Given the description of an element on the screen output the (x, y) to click on. 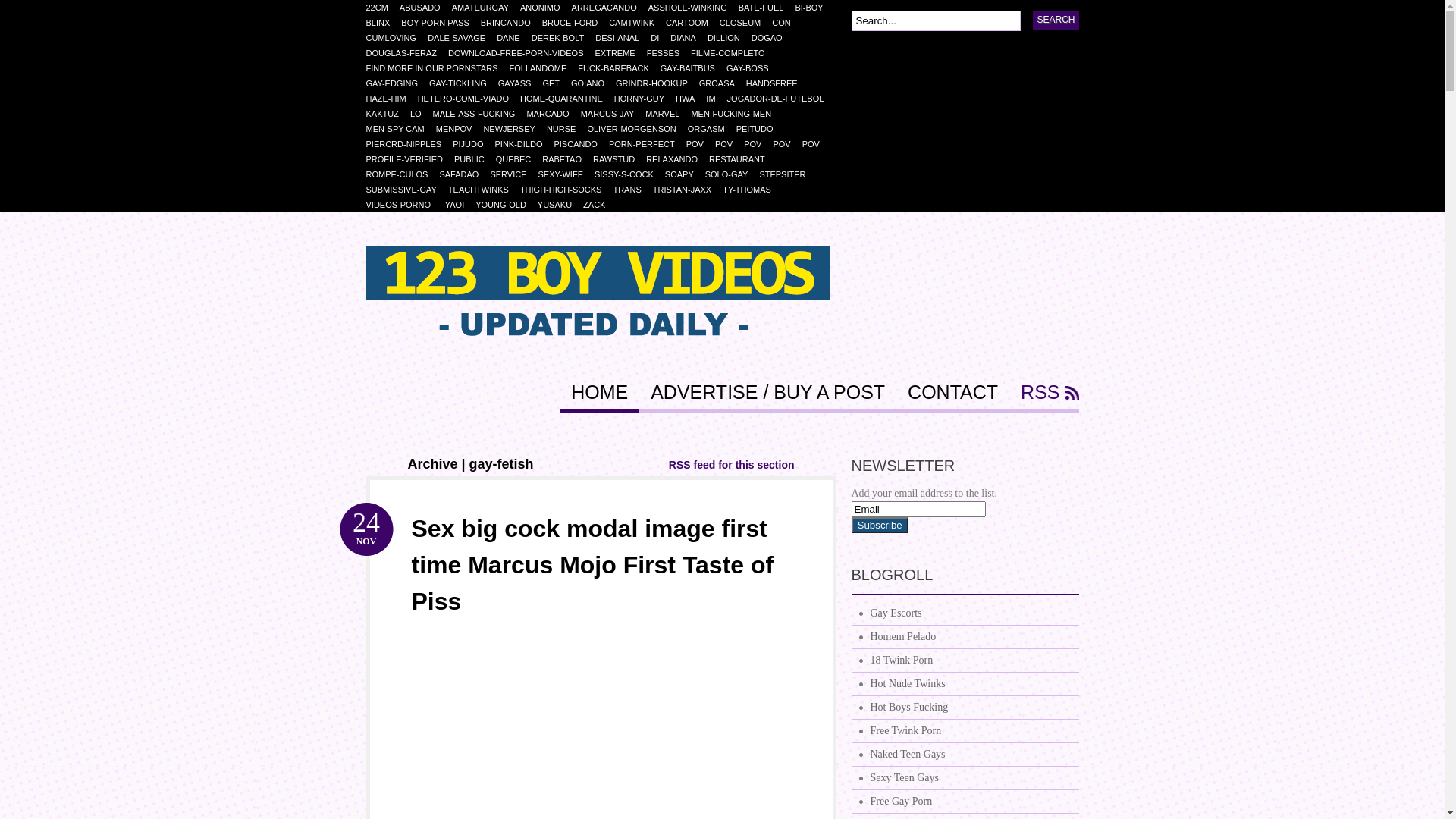
TEACHTWINKS Element type: text (484, 189)
CARTOOM Element type: text (692, 22)
free gay teen boy videos Element type: hover (596, 364)
PUBLIC Element type: text (474, 158)
ADVERTISE / BUY A POST Element type: text (767, 397)
CONTACT Element type: text (952, 397)
ORGASM Element type: text (711, 128)
FUCK-BAREBACK Element type: text (618, 67)
DANE Element type: text (513, 37)
GAY-TICKLING Element type: text (463, 83)
DOGAO Element type: text (772, 37)
PIJUDO Element type: text (473, 143)
GAY-BOSS Element type: text (753, 67)
DEREK-BOLT Element type: text (563, 37)
ASSHOLE-WINKING Element type: text (693, 7)
FESSES Element type: text (668, 52)
LO Element type: text (421, 113)
RELAXANDO Element type: text (677, 158)
PORN-PERFECT Element type: text (647, 143)
DI Element type: text (660, 37)
SAFADAO Element type: text (464, 174)
ZACK Element type: text (599, 204)
RABETAO Element type: text (567, 158)
22CM Element type: text (381, 7)
Email Element type: text (917, 509)
OLIVER-MORGENSON Element type: text (636, 128)
NURSE Element type: text (566, 128)
GAY-BAITBUS Element type: text (693, 67)
POV Element type: text (816, 143)
Hot Boys Fucking Element type: text (964, 707)
MARCUS-JAY Element type: text (613, 113)
SUBMISSIVE-GAY Element type: text (406, 189)
SOLO-GAY Element type: text (732, 174)
CAMTWINK Element type: text (636, 22)
Free Twink Porn Element type: text (964, 731)
HOME Element type: text (599, 397)
TRANS Element type: text (632, 189)
STEPSITER Element type: text (787, 174)
Search Element type: text (1055, 19)
Hot Nude Twinks Element type: text (964, 684)
HWA Element type: text (690, 98)
POV Element type: text (757, 143)
MALE-ASS-FUCKING Element type: text (480, 113)
AMATEURGAY Element type: text (485, 7)
CLOSEUM Element type: text (745, 22)
PINK-DILDO Element type: text (523, 143)
HAZE-HIM Element type: text (391, 98)
GOIANO Element type: text (593, 83)
FILME-COMPLETO Element type: text (733, 52)
Sexy Teen Gays Element type: text (964, 778)
RSS Element type: text (1043, 397)
GAYASS Element type: text (520, 83)
NEWJERSEY Element type: text (514, 128)
PROFILE-VERIFIED Element type: text (409, 158)
IM Element type: text (716, 98)
Naked Teen Gays Element type: text (964, 754)
DOUGLAS-FERAZ Element type: text (406, 52)
18 Twink Porn Element type: text (964, 660)
Homem Pelado Element type: text (964, 637)
RESTAURANT Element type: text (742, 158)
YOUNG-OLD Element type: text (506, 204)
CUMLOVING Element type: text (396, 37)
BLINX Element type: text (383, 22)
SERVICE Element type: text (513, 174)
SEXY-WIFE Element type: text (565, 174)
BRUCE-FORD Element type: text (575, 22)
DOWNLOAD-FREE-PORN-VIDEOS Element type: text (521, 52)
Free Gay Porn Element type: text (964, 801)
BOY PORN PASS Element type: text (440, 22)
DALE-SAVAGE Element type: text (461, 37)
FIND MORE IN OUR PORNSTARS Element type: text (436, 67)
RSS feed for this section Element type: text (731, 464)
HORNY-GUY Element type: text (644, 98)
YUSAKU Element type: text (560, 204)
MENPOV Element type: text (459, 128)
MEN-SPY-CAM Element type: text (400, 128)
YAOI Element type: text (460, 204)
GAY-EDGING Element type: text (396, 83)
ABUSADO Element type: text (425, 7)
DIANA Element type: text (688, 37)
HETERO-COME-VIADO Element type: text (468, 98)
EXTREME Element type: text (620, 52)
QUEBEC Element type: text (518, 158)
BATE-FUEL Element type: text (766, 7)
HANDSFREE Element type: text (777, 83)
TY-THOMAS Element type: text (752, 189)
DESI-ANAL Element type: text (622, 37)
JOGADOR-DE-FUTEBOL Element type: text (781, 98)
BI-BOY Element type: text (814, 7)
Subscribe Element type: text (878, 525)
DILLION Element type: text (729, 37)
MARCADO Element type: text (553, 113)
BRINCANDO Element type: text (511, 22)
PIERCRD-NIPPLES Element type: text (408, 143)
GET Element type: text (556, 83)
KAKTUZ Element type: text (387, 113)
TRISTAN-JAXX Element type: text (687, 189)
CON Element type: text (786, 22)
Gay Escorts Element type: text (964, 613)
ARREGACANDO Element type: text (609, 7)
ANONIMO Element type: text (545, 7)
THIGH-HIGH-SOCKS Element type: text (566, 189)
VIDEOS-PORNO- Element type: text (404, 204)
PISCANDO Element type: text (580, 143)
GRINDR-HOOKUP Element type: text (657, 83)
MARVEL Element type: text (667, 113)
FOLLANDOME Element type: text (542, 67)
SOAPY Element type: text (685, 174)
GROASA Element type: text (722, 83)
SISSY-S-COCK Element type: text (629, 174)
POV Element type: text (786, 143)
POV Element type: text (700, 143)
PEITUDO Element type: text (760, 128)
RAWSTUD Element type: text (619, 158)
MEN-FUCKING-MEN Element type: text (736, 113)
HOME-QUARANTINE Element type: text (567, 98)
ROMPE-CULOS Element type: text (402, 174)
POV Element type: text (729, 143)
